Given the description of an element on the screen output the (x, y) to click on. 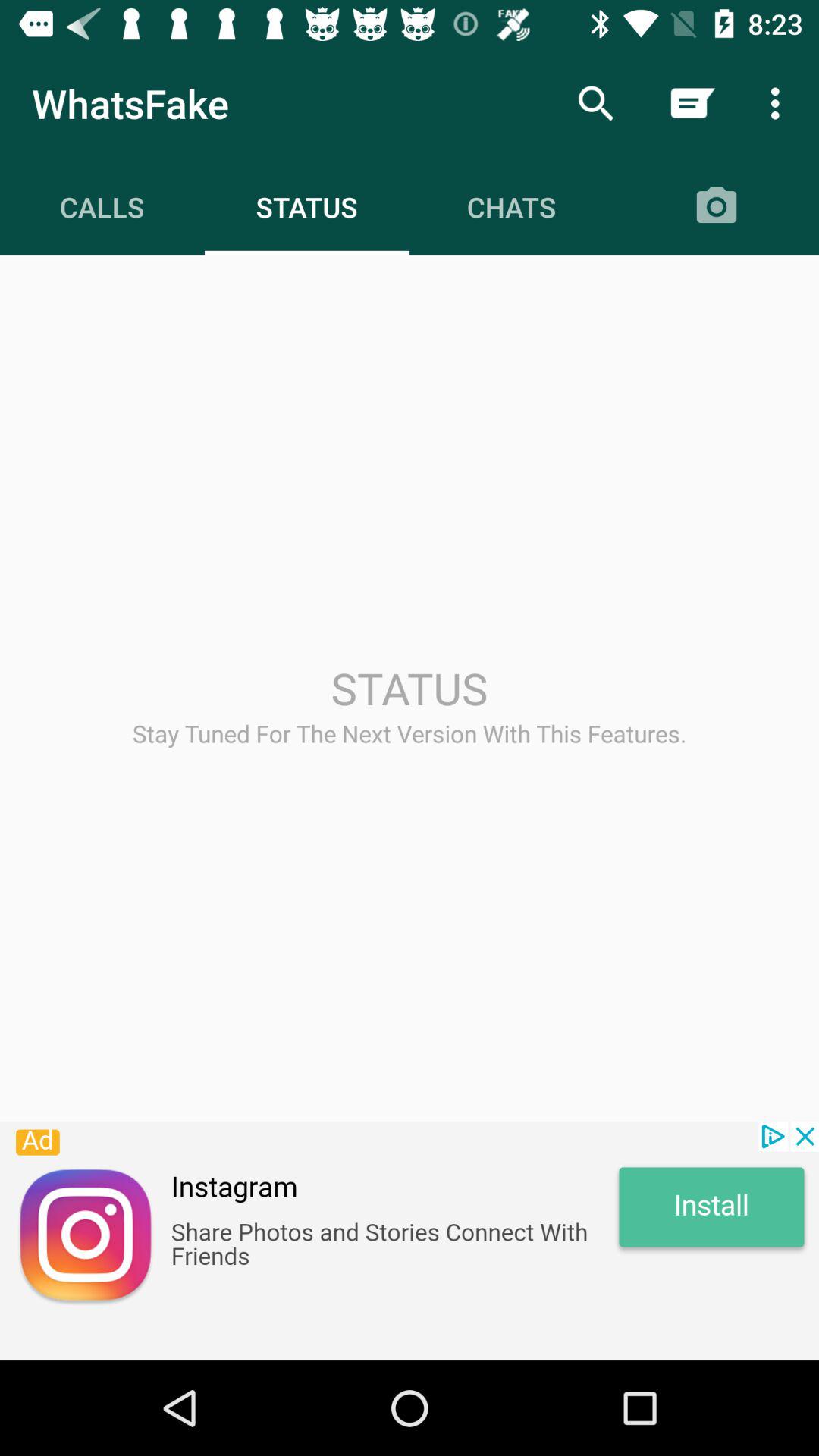
select this advertisement (409, 1240)
